Given the description of an element on the screen output the (x, y) to click on. 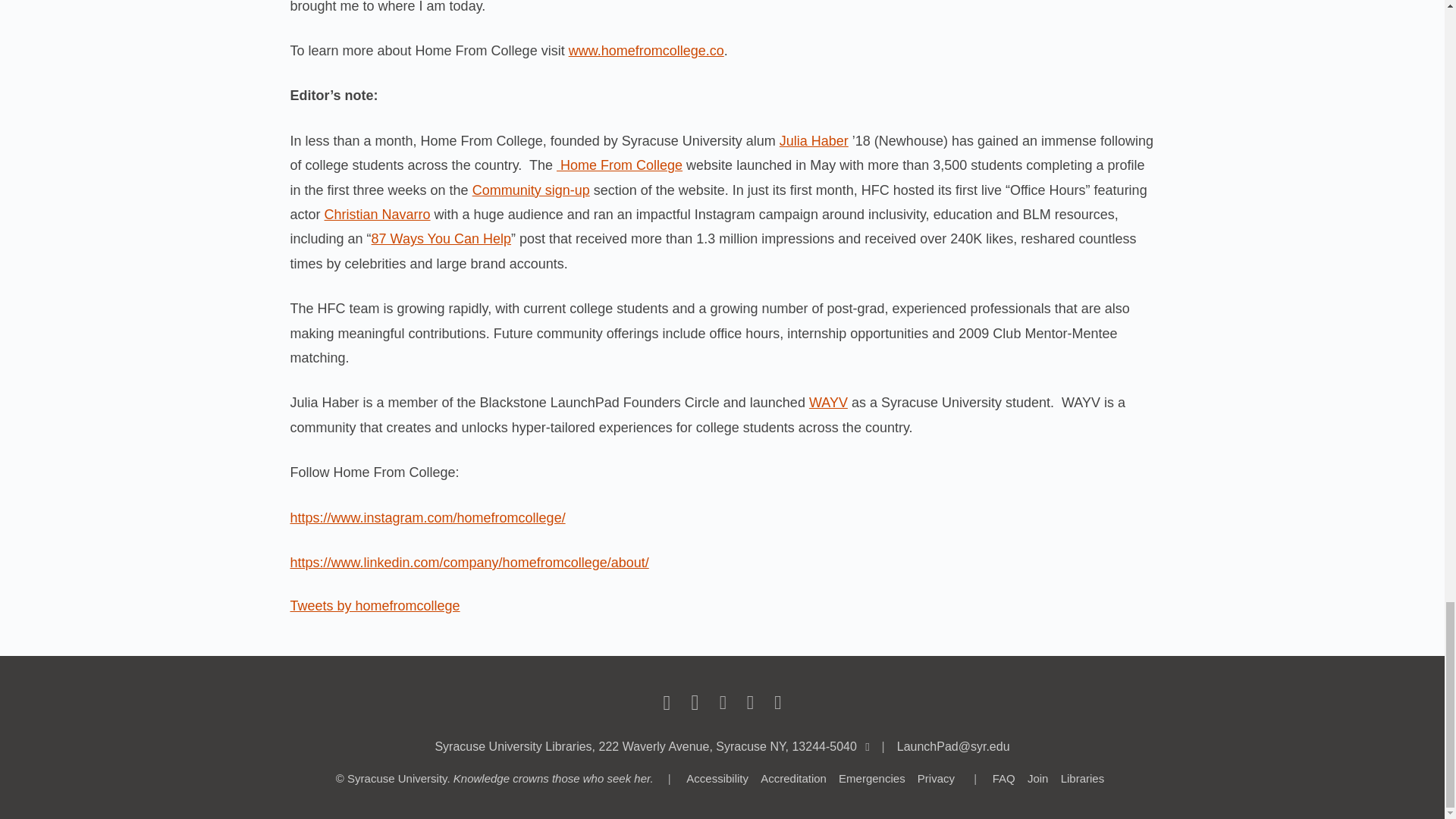
Link to address on Google Maps (644, 746)
